Given the description of an element on the screen output the (x, y) to click on. 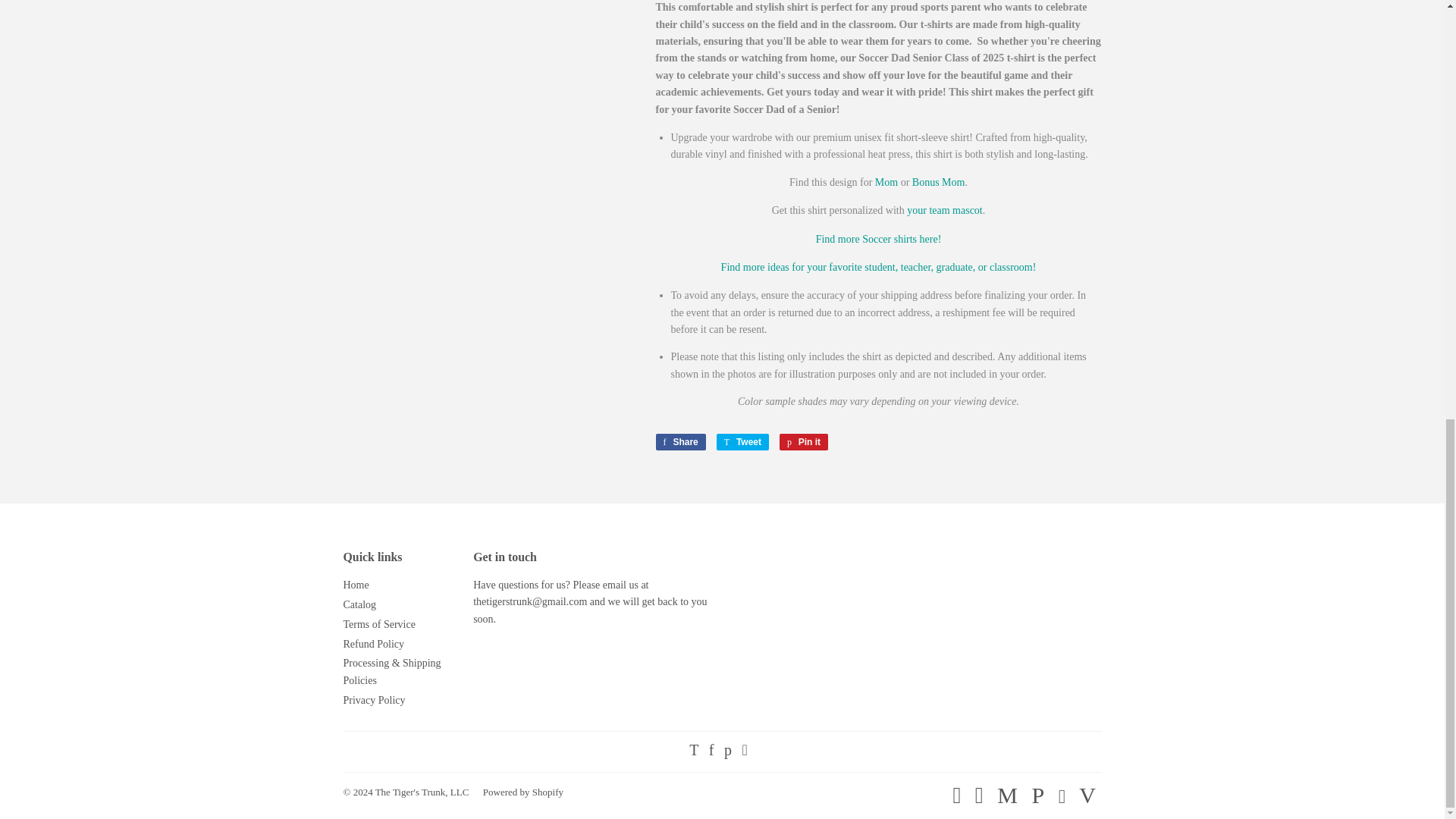
School Supplies (878, 266)
Soccer (878, 238)
Soccer Mom of a Senior 2024 short-sleeve shirt (886, 182)
Tweet on Twitter (742, 442)
Share on Facebook (679, 442)
Pin on Pinterest (803, 442)
